Given the description of an element on the screen output the (x, y) to click on. 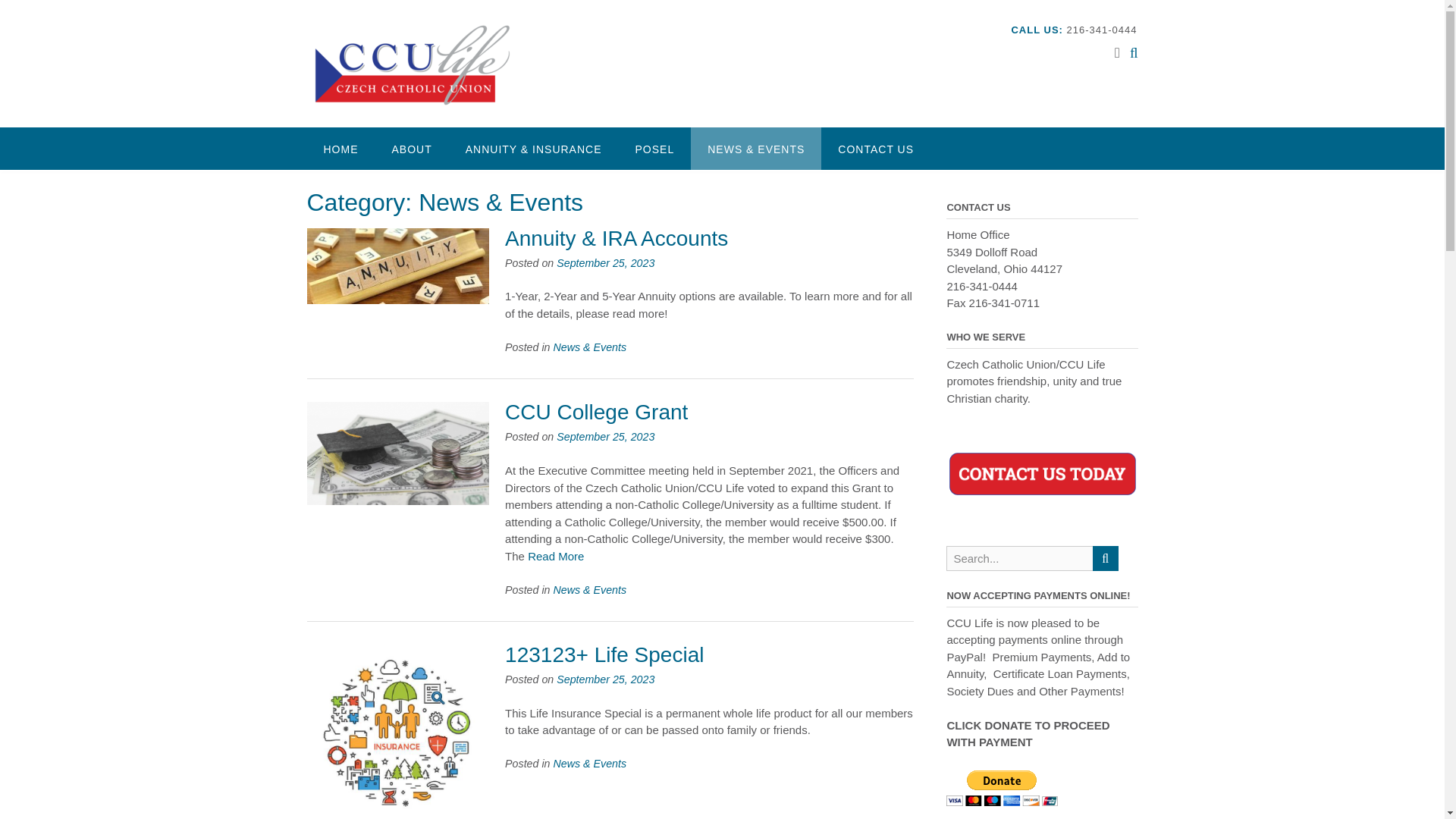
PayPal - The safer, easier way to pay online! (1002, 787)
September 25, 2023 (604, 263)
POSEL (654, 148)
Search for: (1019, 558)
ABOUT (411, 148)
HOME (339, 148)
September 25, 2023 (604, 679)
CCU College Grant (596, 412)
Read More (555, 555)
September 25, 2023 (604, 436)
CONTACT US (875, 148)
